Given the description of an element on the screen output the (x, y) to click on. 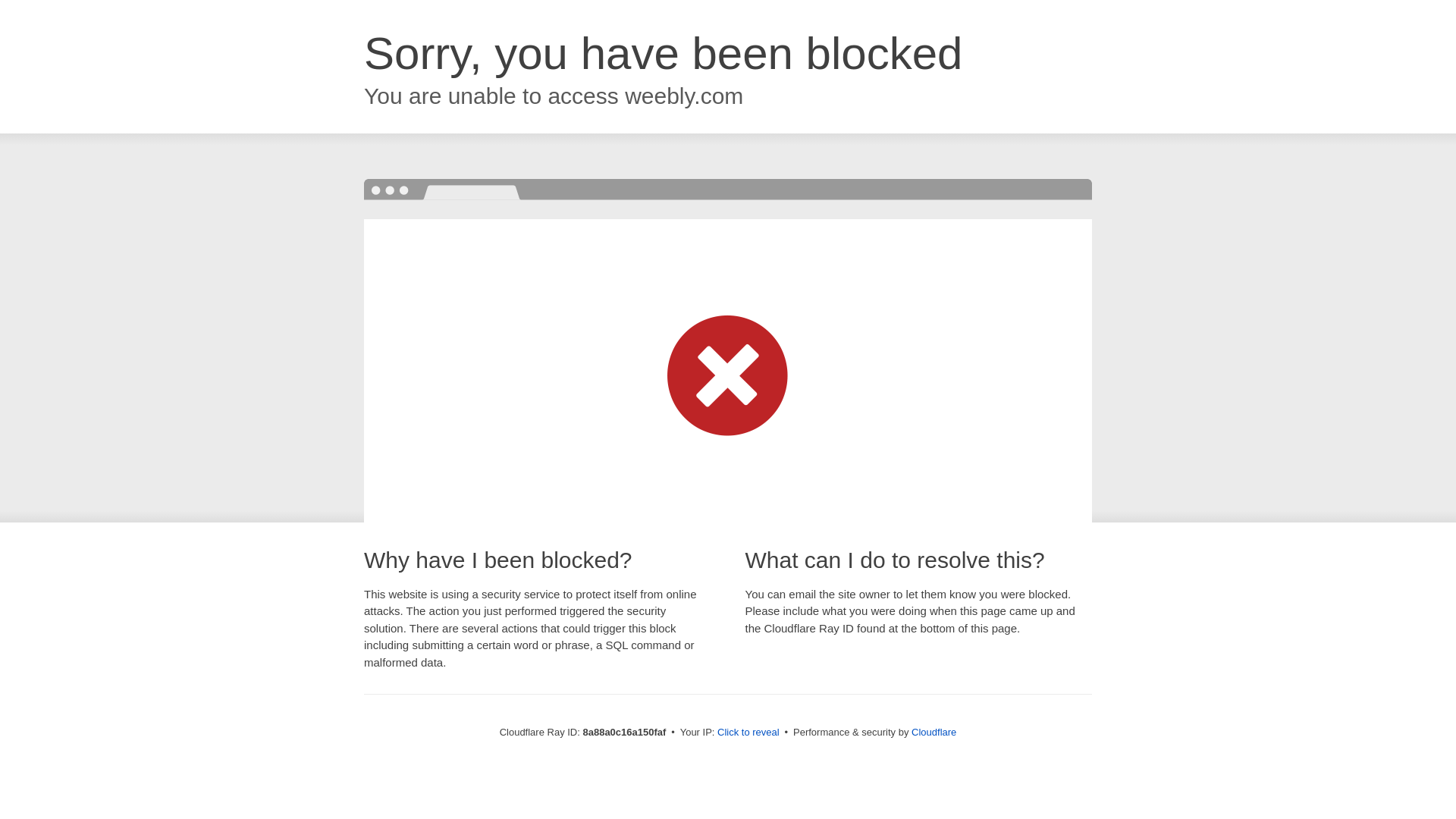
Cloudflare (933, 731)
Click to reveal (747, 732)
